Given the description of an element on the screen output the (x, y) to click on. 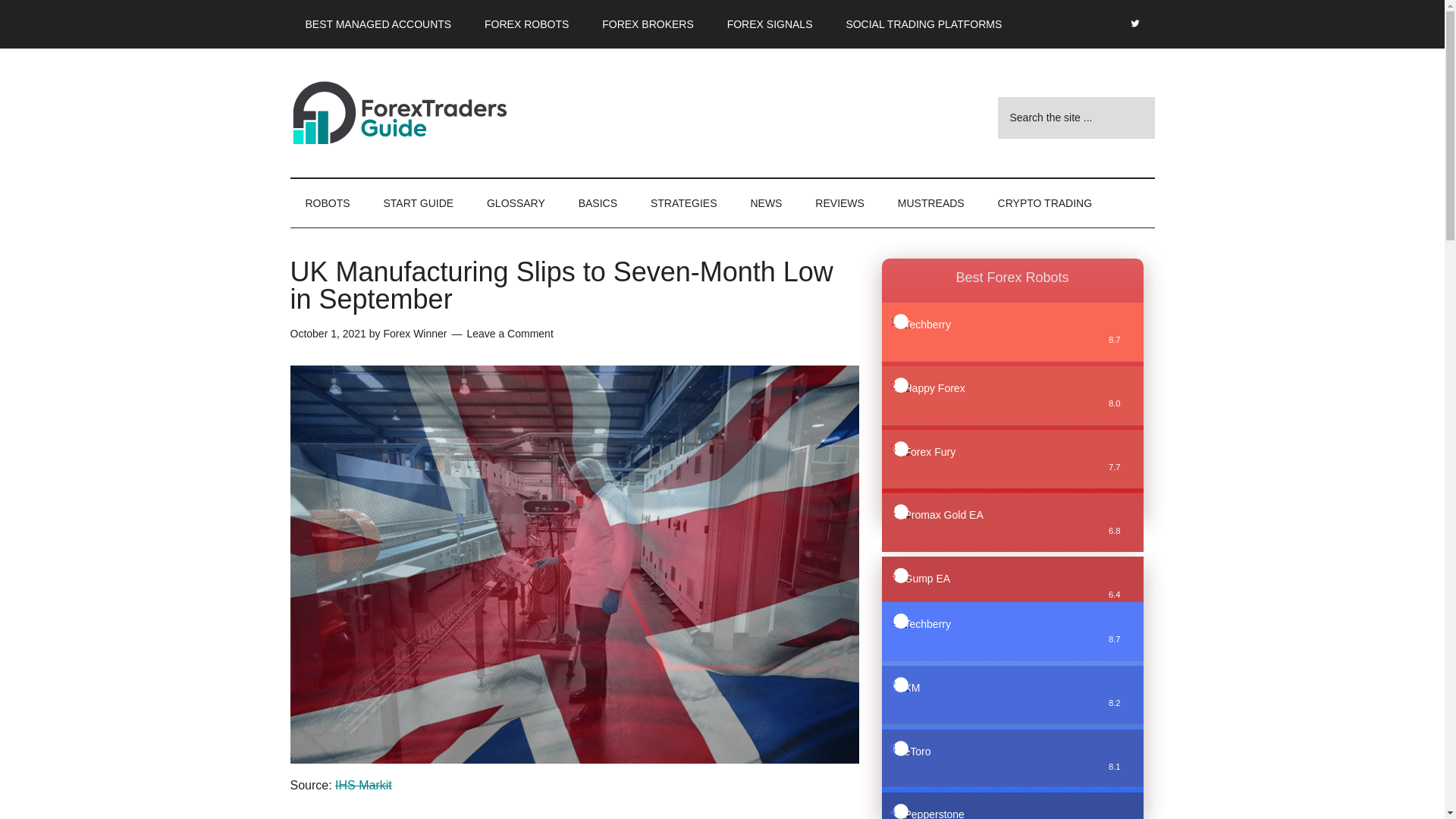
BEST MANAGED ACCOUNTS (377, 24)
FOREX BROKERS (647, 24)
Forex Winner (414, 333)
START GUIDE (418, 203)
IHS Markit (362, 784)
SOCIAL TRADING PLATFORMS (922, 24)
FOREX ROBOTS (525, 24)
GLOSSARY (515, 203)
REVIEWS (839, 203)
STRATEGIES (683, 203)
MUSTREADS (930, 203)
